Given the description of an element on the screen output the (x, y) to click on. 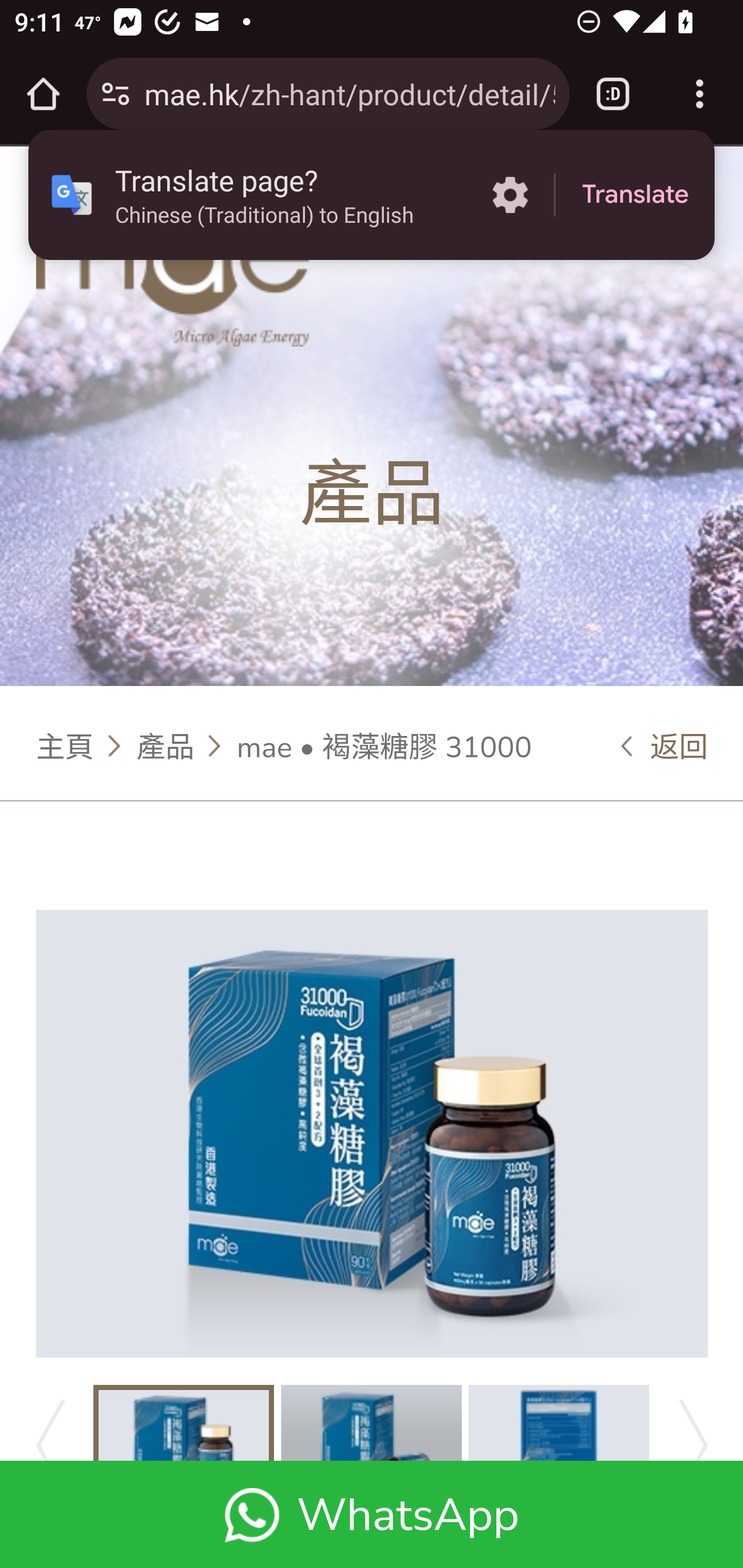
Open the home page (43, 93)
Connection is secure (115, 93)
Switch or close tabs (612, 93)
Customize and control Google Chrome (699, 93)
Translate (634, 195)
More options in the Translate page? (509, 195)
主頁 (65, 745)
產品 (164, 745)
返回 (665, 745)
WhatsApp (371, 1513)
